Given the description of an element on the screen output the (x, y) to click on. 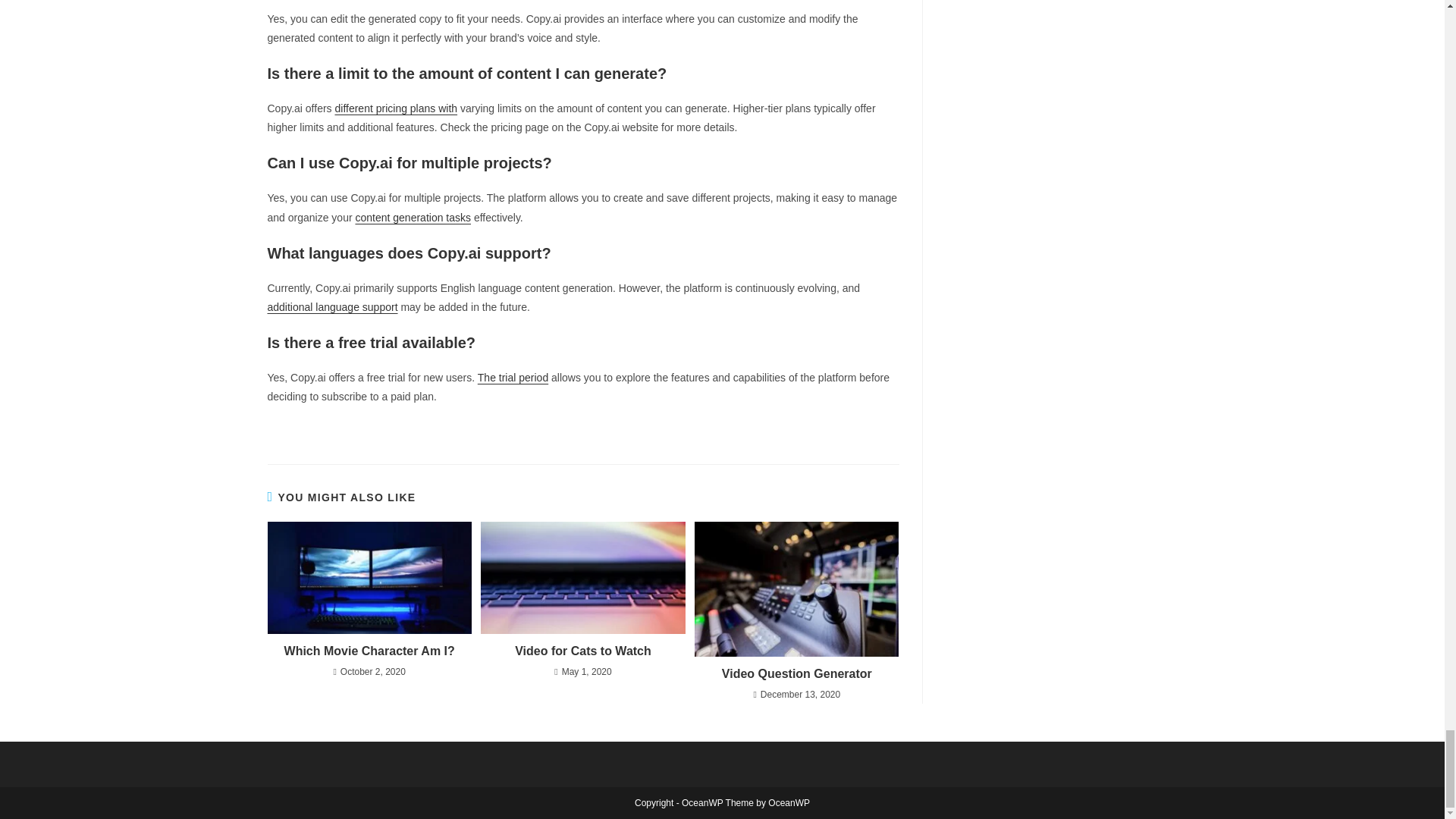
additional language support (331, 306)
content generation tasks (412, 217)
The trial period (512, 377)
different pricing plans with (395, 108)
Which Movie Character Am I? (368, 651)
